Given the description of an element on the screen output the (x, y) to click on. 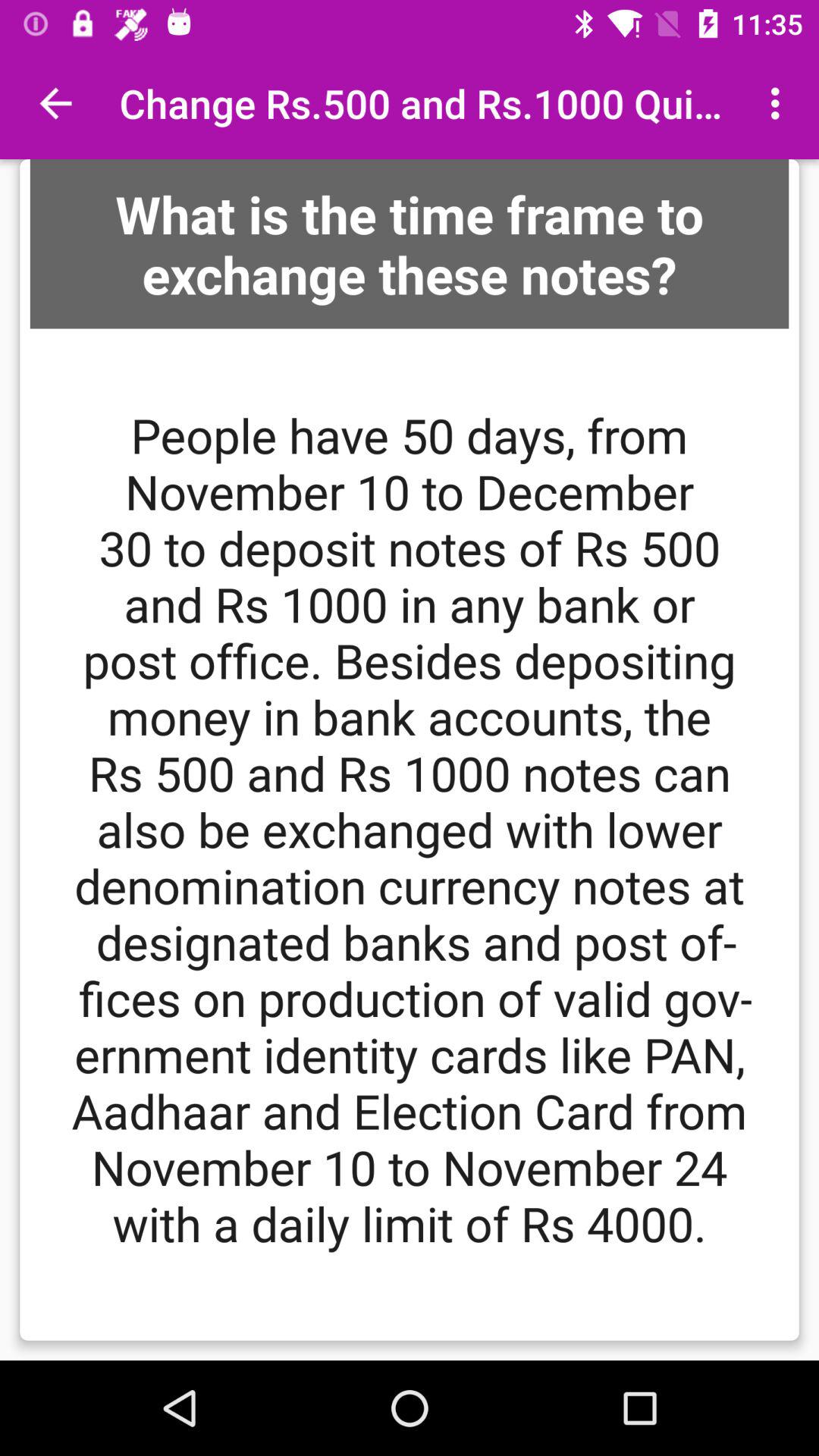
launch the app next to change rs 500 icon (55, 103)
